Given the description of an element on the screen output the (x, y) to click on. 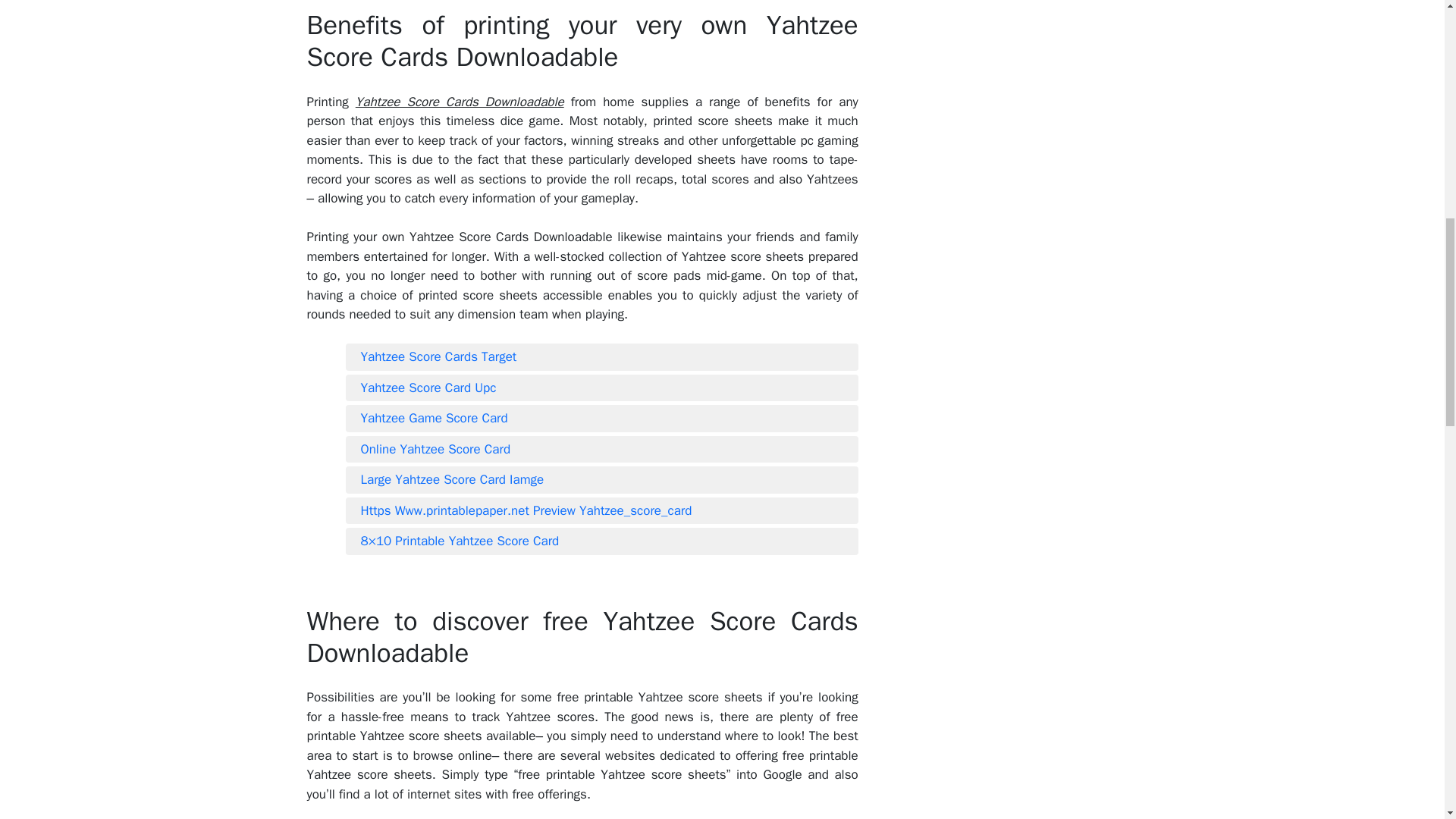
Yahtzee Score Cards Target (601, 356)
Scroll back to top (1406, 720)
Yahtzee Game Score Card (601, 418)
Large Yahtzee Score Card Iamge (601, 479)
Yahtzee Score Card Upc (601, 387)
Online Yahtzee Score Card (601, 449)
